Given the description of an element on the screen output the (x, y) to click on. 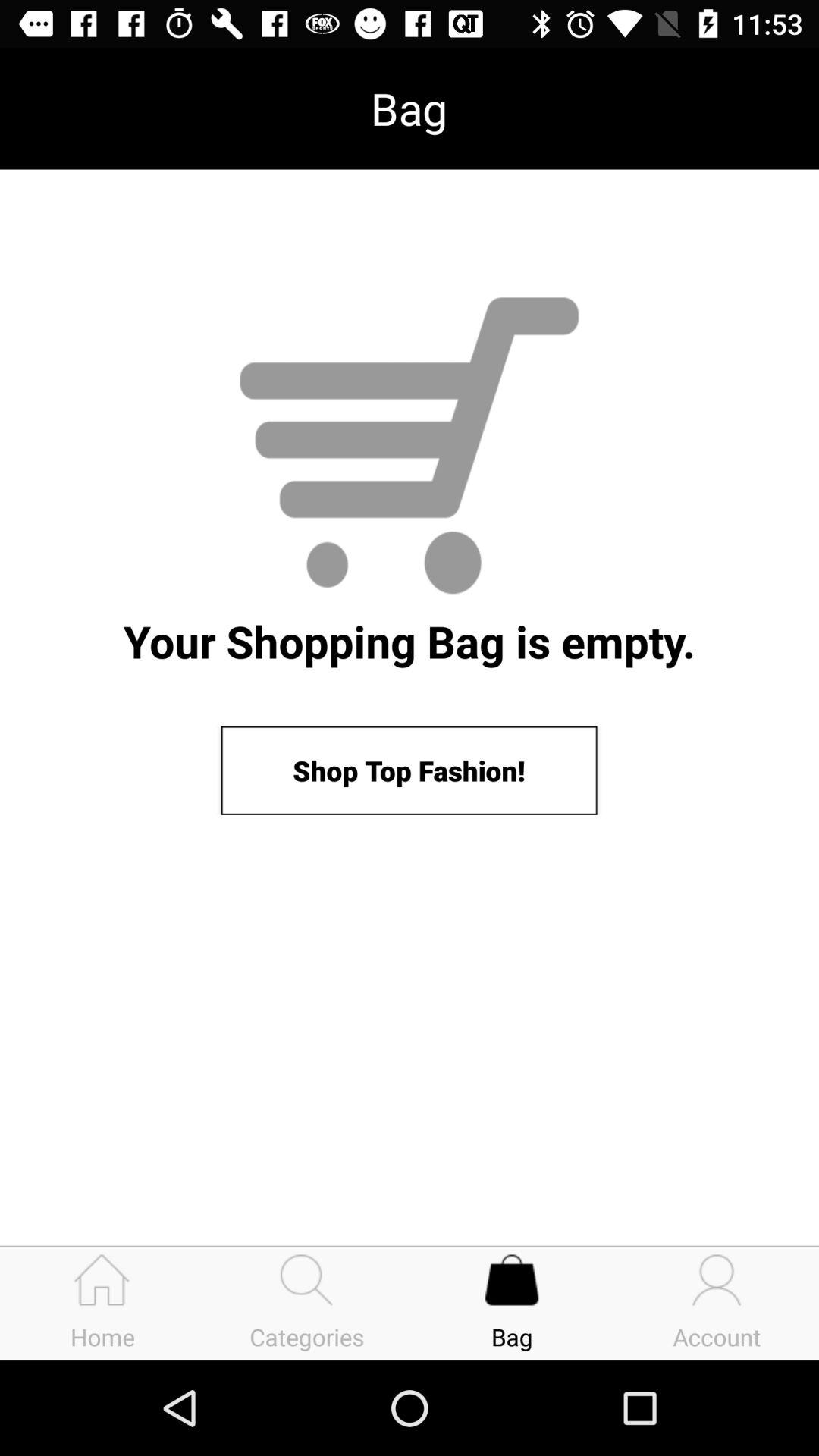
flip to shop top fashion! icon (409, 770)
